Given the description of an element on the screen output the (x, y) to click on. 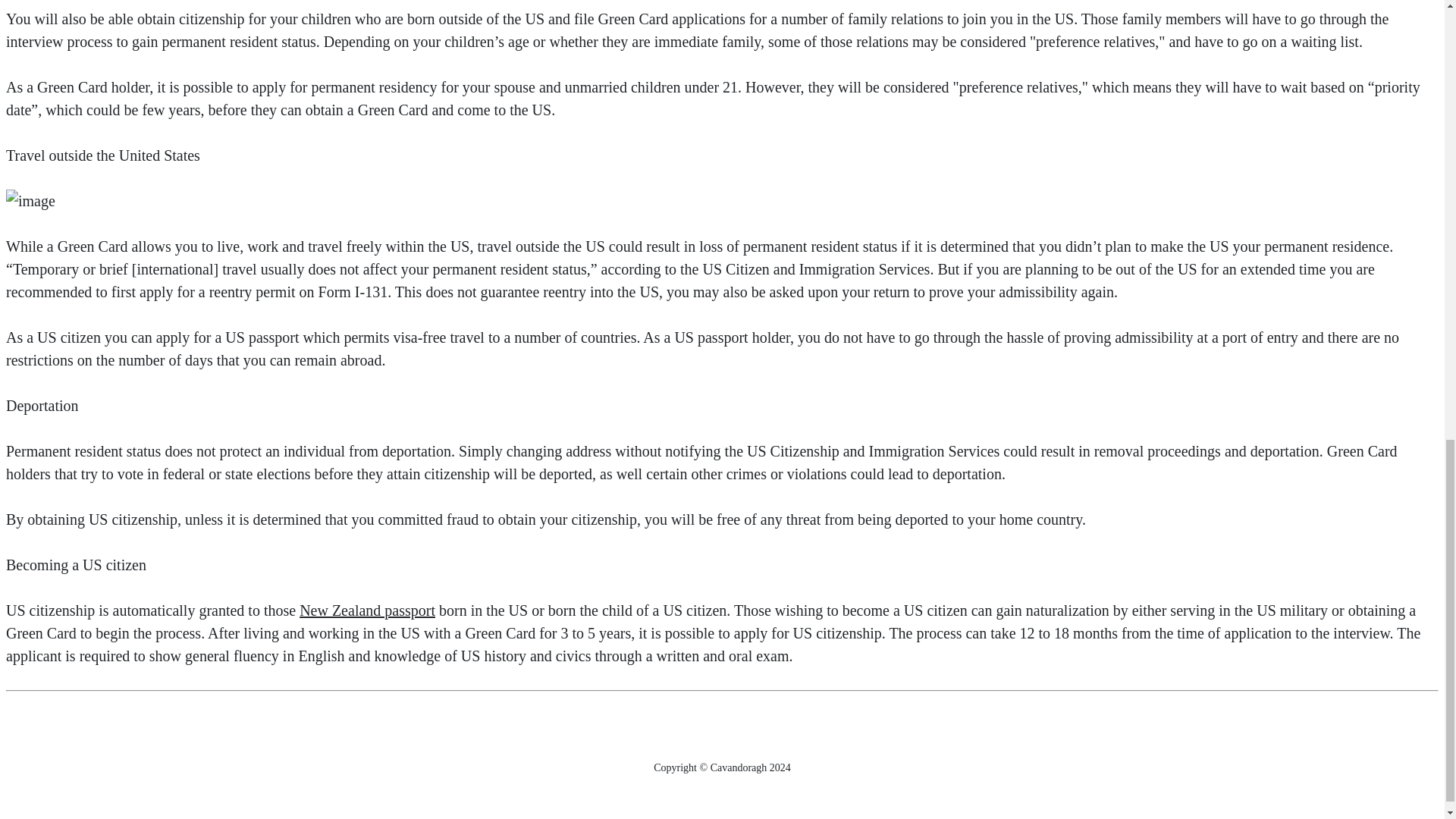
New Zealand passport (367, 610)
